Given the description of an element on the screen output the (x, y) to click on. 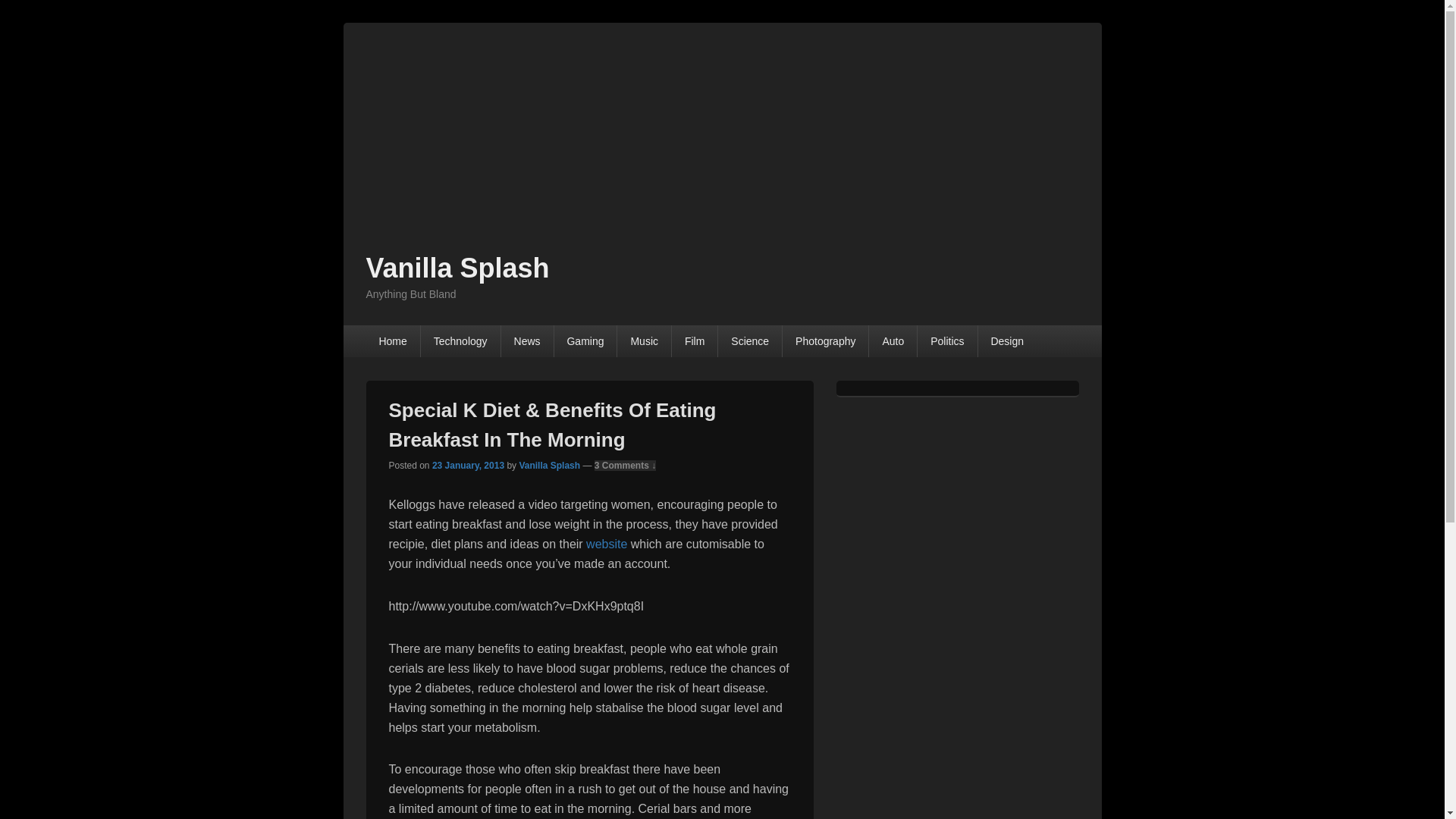
Technology (460, 341)
Photography (825, 341)
Film (694, 341)
Vanilla Splash (456, 267)
Politics (946, 341)
Music (644, 341)
Vanilla Splash (548, 465)
9:24 pm (467, 465)
Science (749, 341)
website (606, 543)
